Given the description of an element on the screen output the (x, y) to click on. 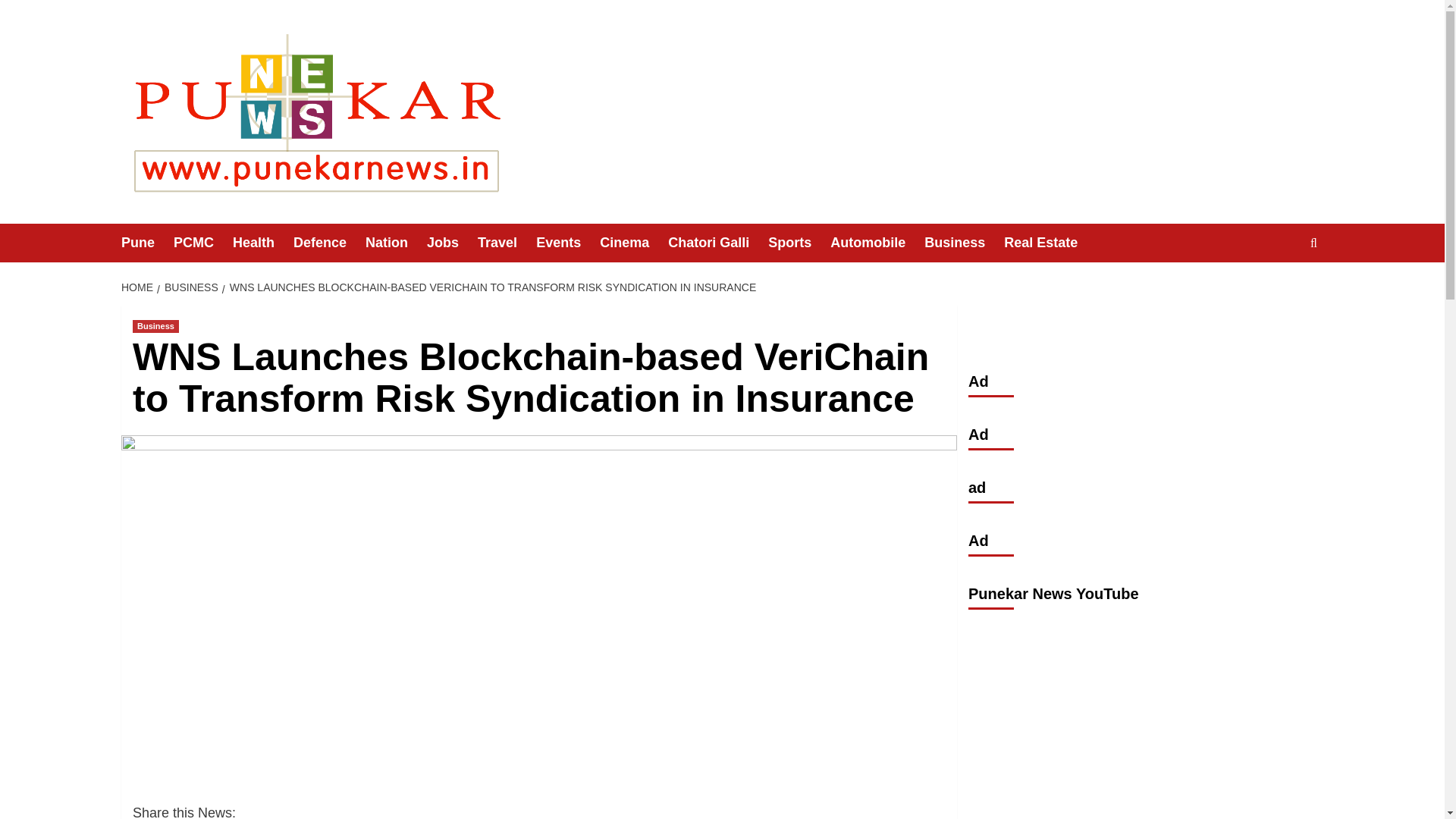
Health (263, 242)
Nation (395, 242)
Pune (146, 242)
Business (155, 326)
Business (964, 242)
Sports (798, 242)
BUSINESS (189, 287)
Cinema (633, 242)
Events (567, 242)
Travel (506, 242)
HOME (138, 287)
Jobs (451, 242)
PCMC (202, 242)
